Given the description of an element on the screen output the (x, y) to click on. 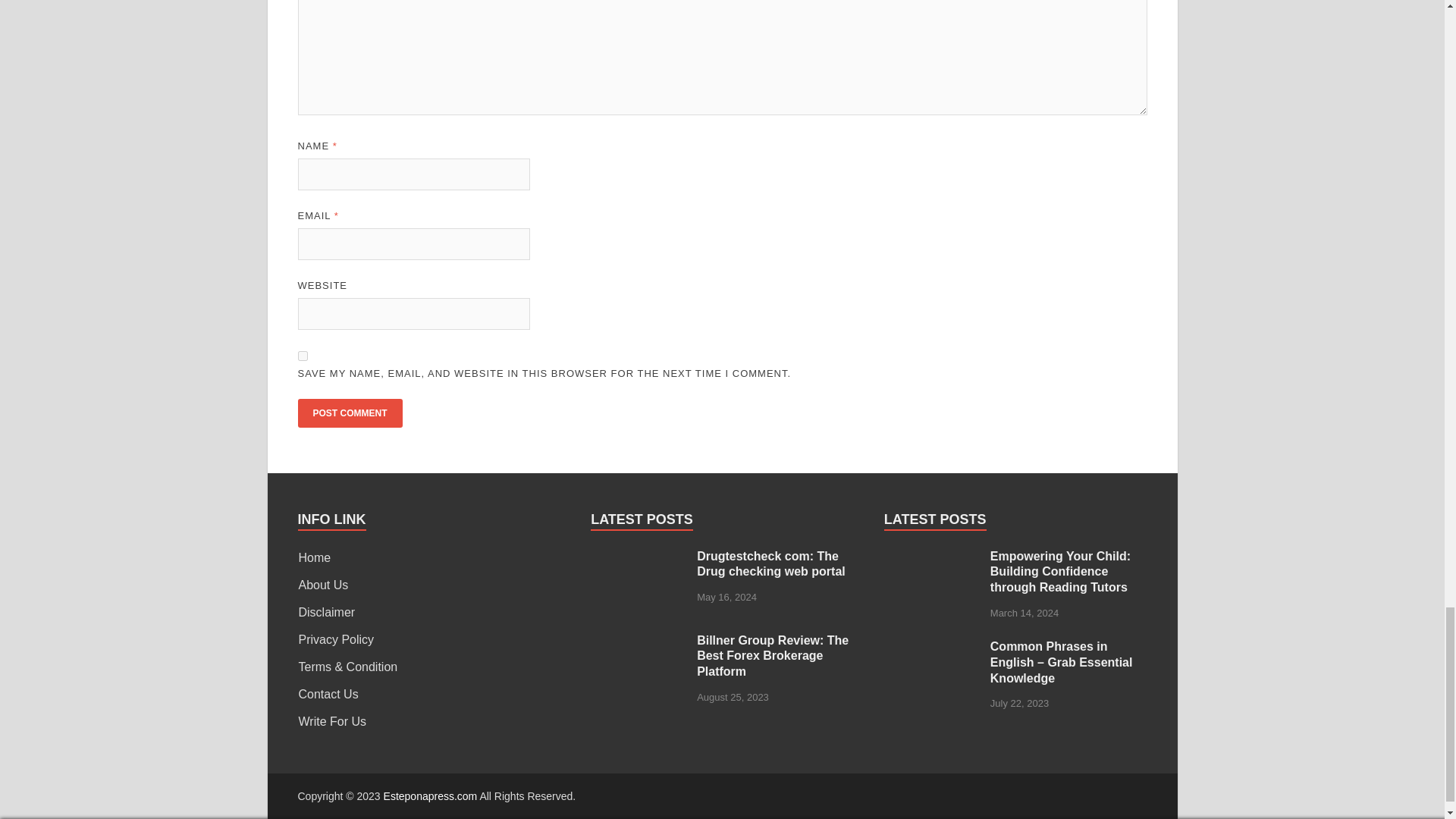
Drugtestcheck com: The Drug checking web portal (638, 557)
yes (302, 356)
Post Comment (349, 412)
Billner Group Review: The Best Forex Brokerage Platform (638, 641)
